Given the description of an element on the screen output the (x, y) to click on. 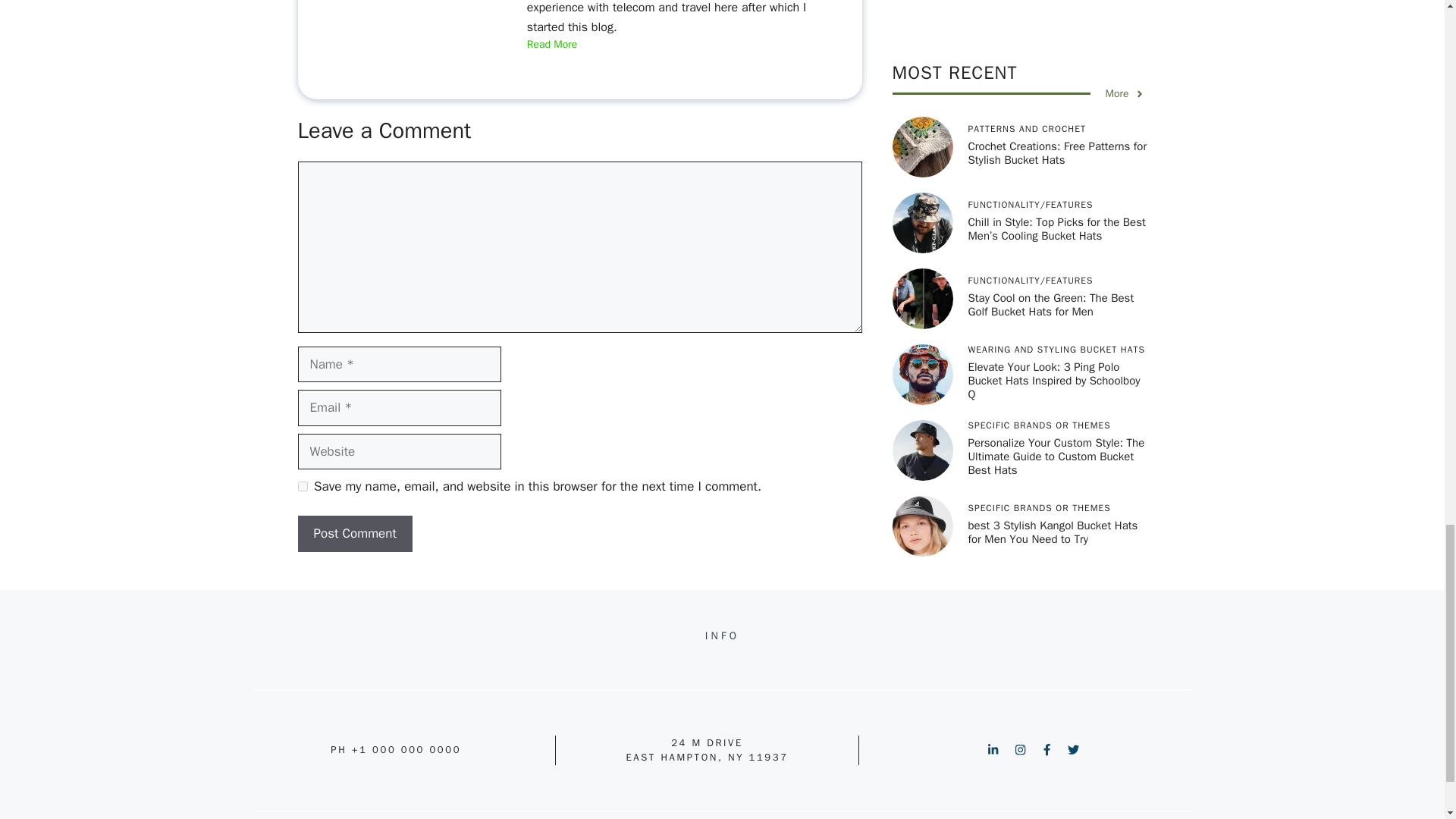
Post Comment (354, 533)
Read more about this author (552, 44)
Read More (552, 44)
yes (302, 486)
Post Comment (354, 533)
